Given the description of an element on the screen output the (x, y) to click on. 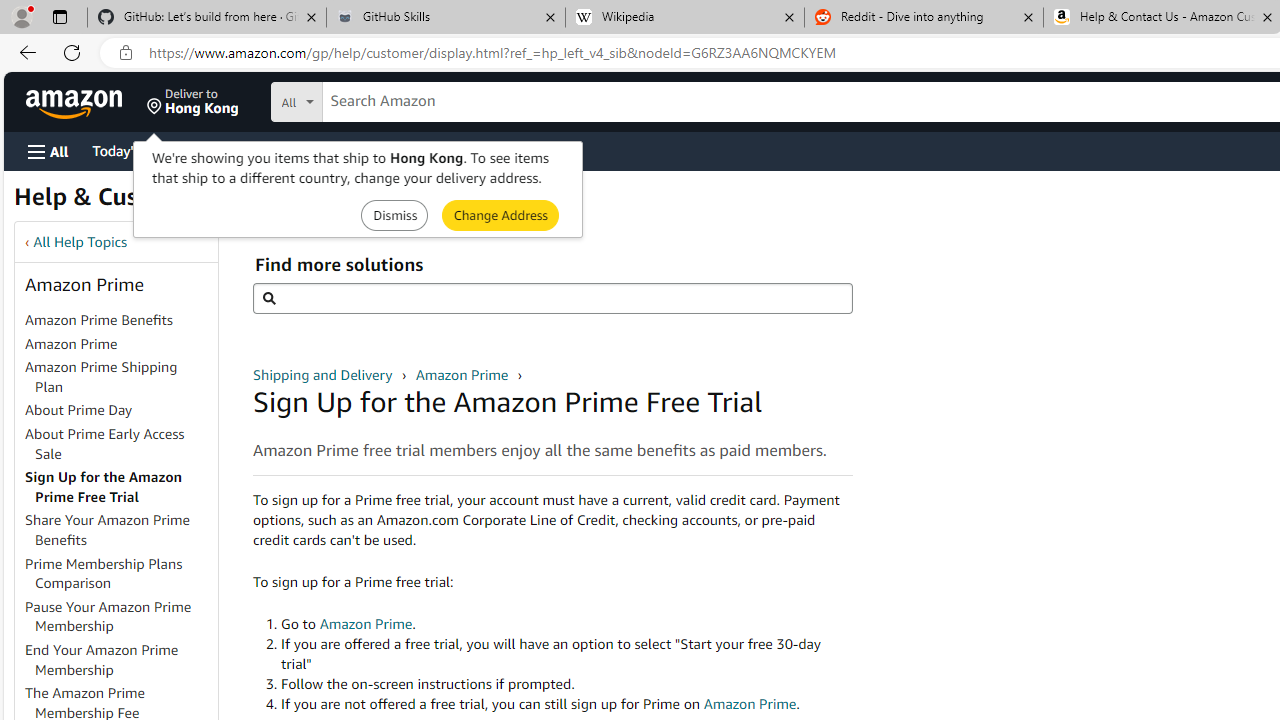
End Your Amazon Prime Membership (120, 660)
All Help Topics (80, 242)
Customer Service (256, 150)
Sign Up for the Amazon Prime Free Trial (120, 488)
Gift Cards (442, 150)
About Prime Day (79, 410)
About Prime Day (120, 411)
GitHub Skills (445, 17)
Open Menu (48, 151)
Find more solutions (552, 297)
Amazon (76, 101)
Amazon Prime Shipping Plan (101, 376)
Amazon Prime Shipping Plan (120, 377)
Pause Your Amazon Prime Membership (120, 616)
